Given the description of an element on the screen output the (x, y) to click on. 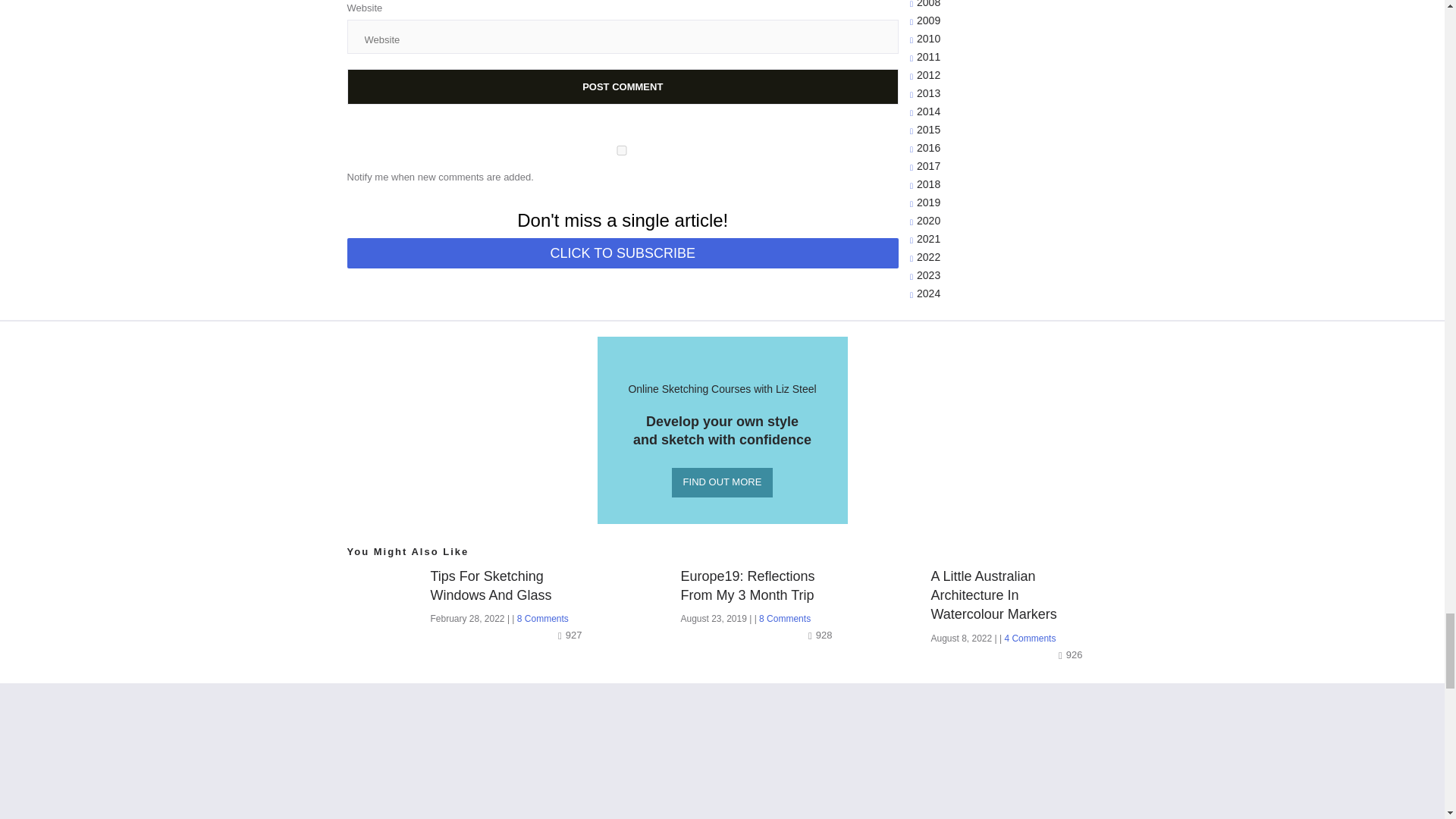
Tips for sketching windows and glass (511, 586)
Like (1072, 654)
A little Australian Architecture in watercolour markers (1012, 595)
Like (821, 634)
Europe19: Reflections from my 3 month trip (761, 586)
1 (621, 150)
Post Comment (623, 86)
Like (571, 634)
